Given the description of an element on the screen output the (x, y) to click on. 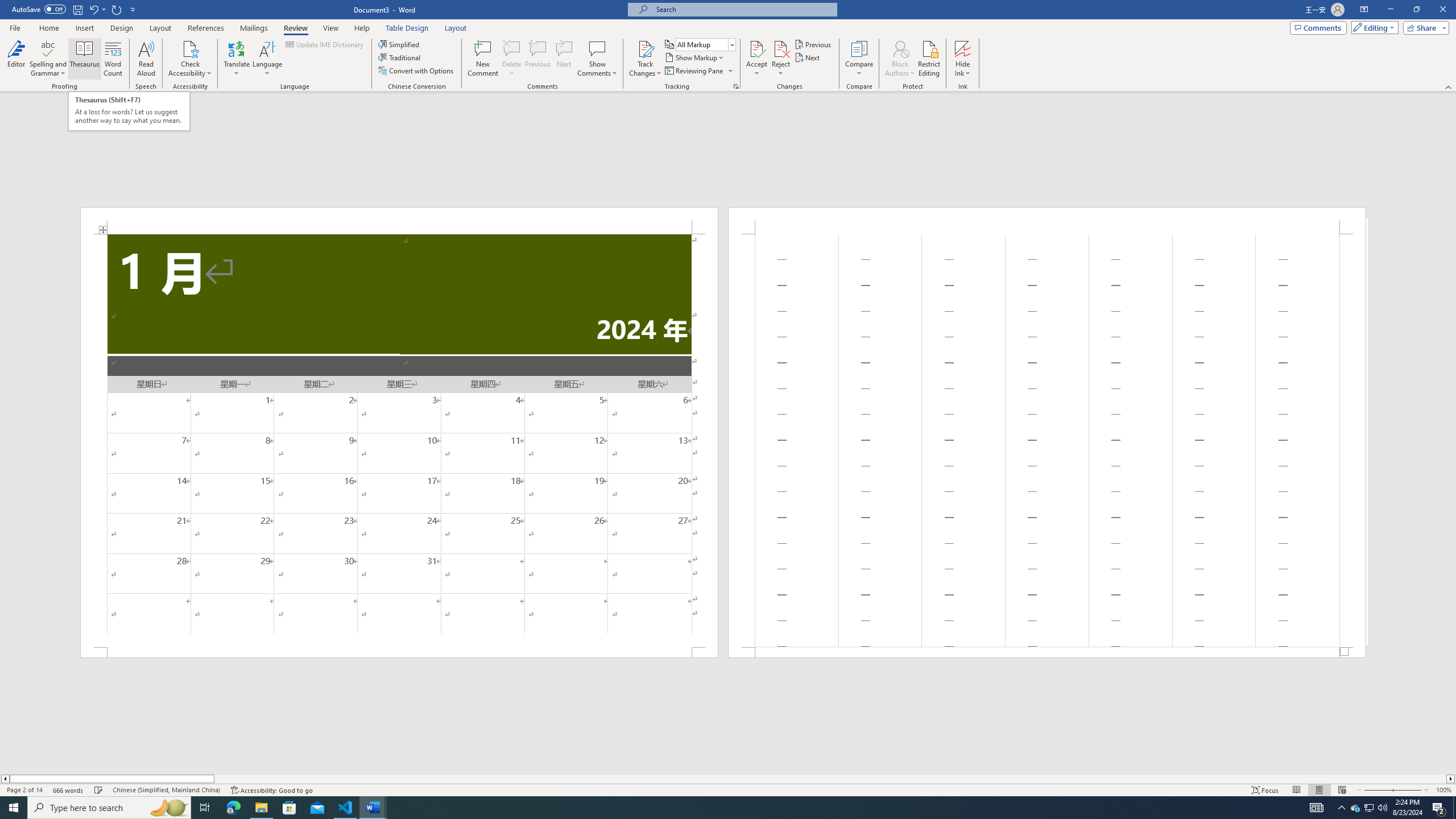
Restrict Editing (929, 58)
Language (267, 58)
Previous (813, 44)
Reject and Move to Next (780, 48)
Column left (5, 778)
Spelling and Grammar (48, 58)
Page Number Page 2 of 14 (24, 790)
Undo Apply Quick Style (96, 9)
